Given the description of an element on the screen output the (x, y) to click on. 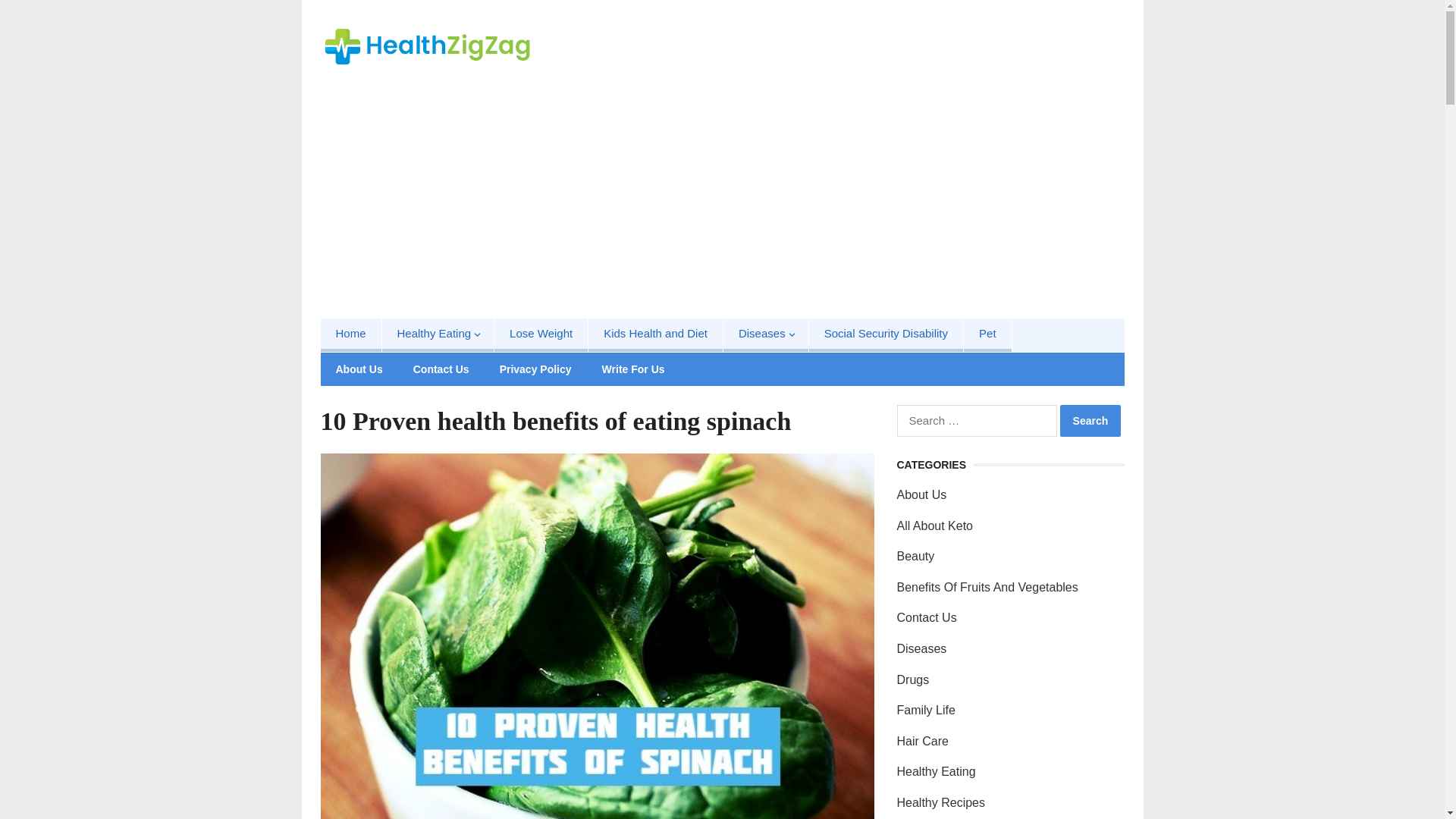
Contact Us (440, 368)
Pet (987, 335)
About Us (358, 368)
Kids Health and Diet (655, 335)
Diseases (765, 335)
Search (1090, 420)
Write For Us (632, 368)
Search (1090, 420)
Home (350, 335)
